Given the description of an element on the screen output the (x, y) to click on. 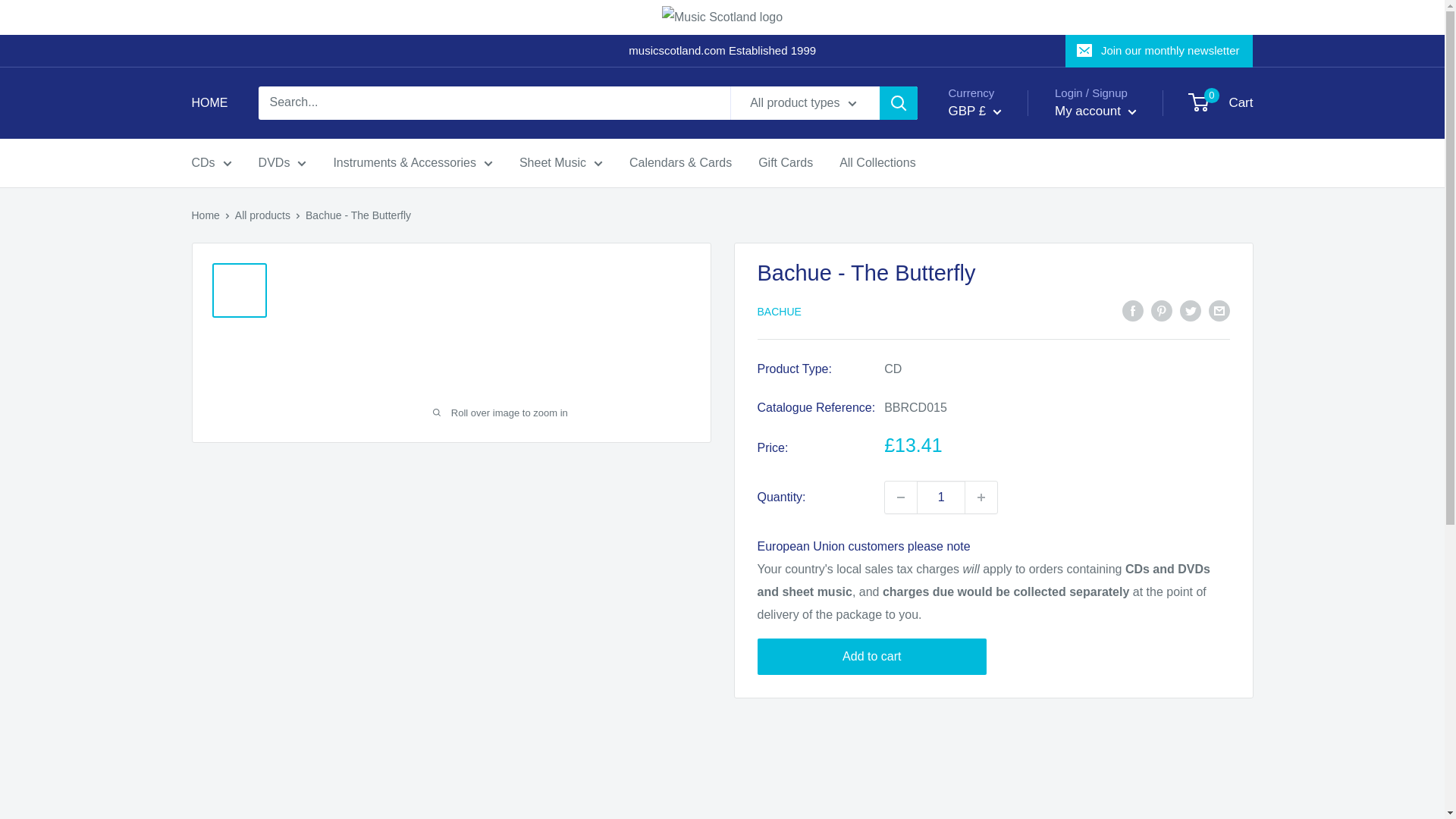
Join our monthly newsletter (1159, 50)
Decrease quantity by 1 (901, 497)
Increase quantity by 1 (981, 497)
1 (941, 497)
